Given the description of an element on the screen output the (x, y) to click on. 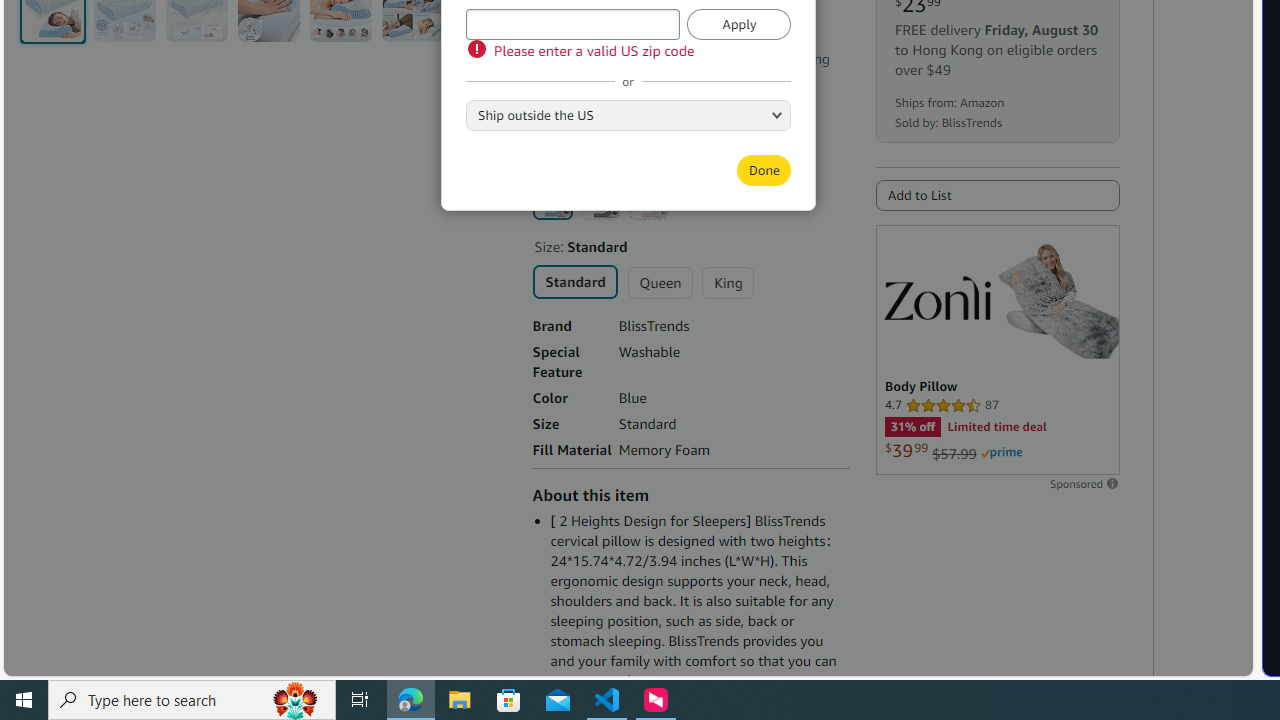
Grey (600, 200)
Apply (739, 24)
Shop items (577, 125)
Pink (647, 200)
Grey (600, 200)
Details  (601, 79)
Standard (574, 280)
Terms (658, 125)
Add to List (997, 195)
Pink (647, 200)
Apply 20% coupon Shop items | Terms (622, 100)
or enter a US zip code (572, 24)
King (727, 282)
Prime (1001, 453)
